Given the description of an element on the screen output the (x, y) to click on. 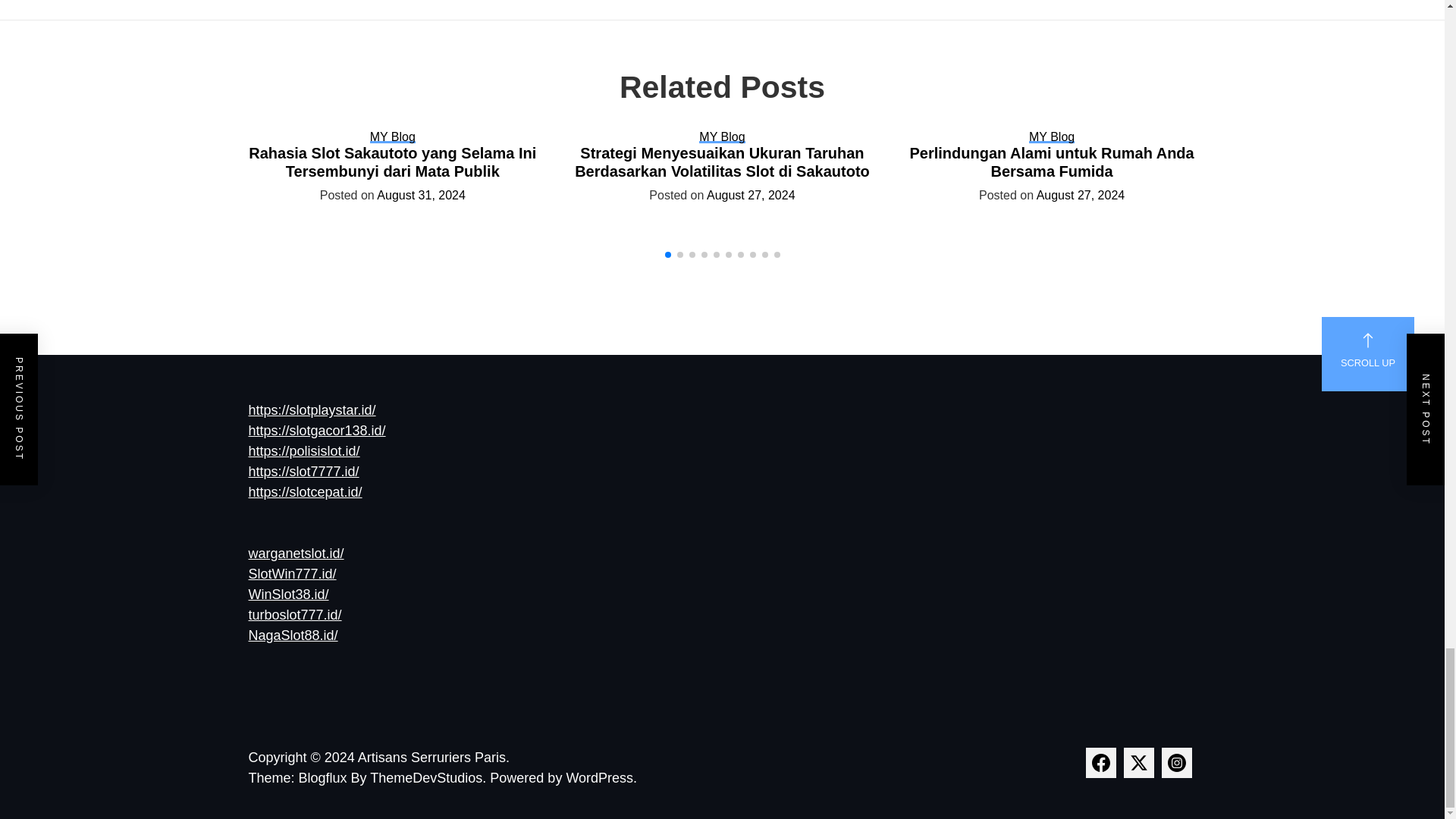
ThemeDevStudios (429, 777)
WordPress (601, 777)
Artisans Serruriers Paris (433, 757)
SCROLL UP (1367, 353)
